Given the description of an element on the screen output the (x, y) to click on. 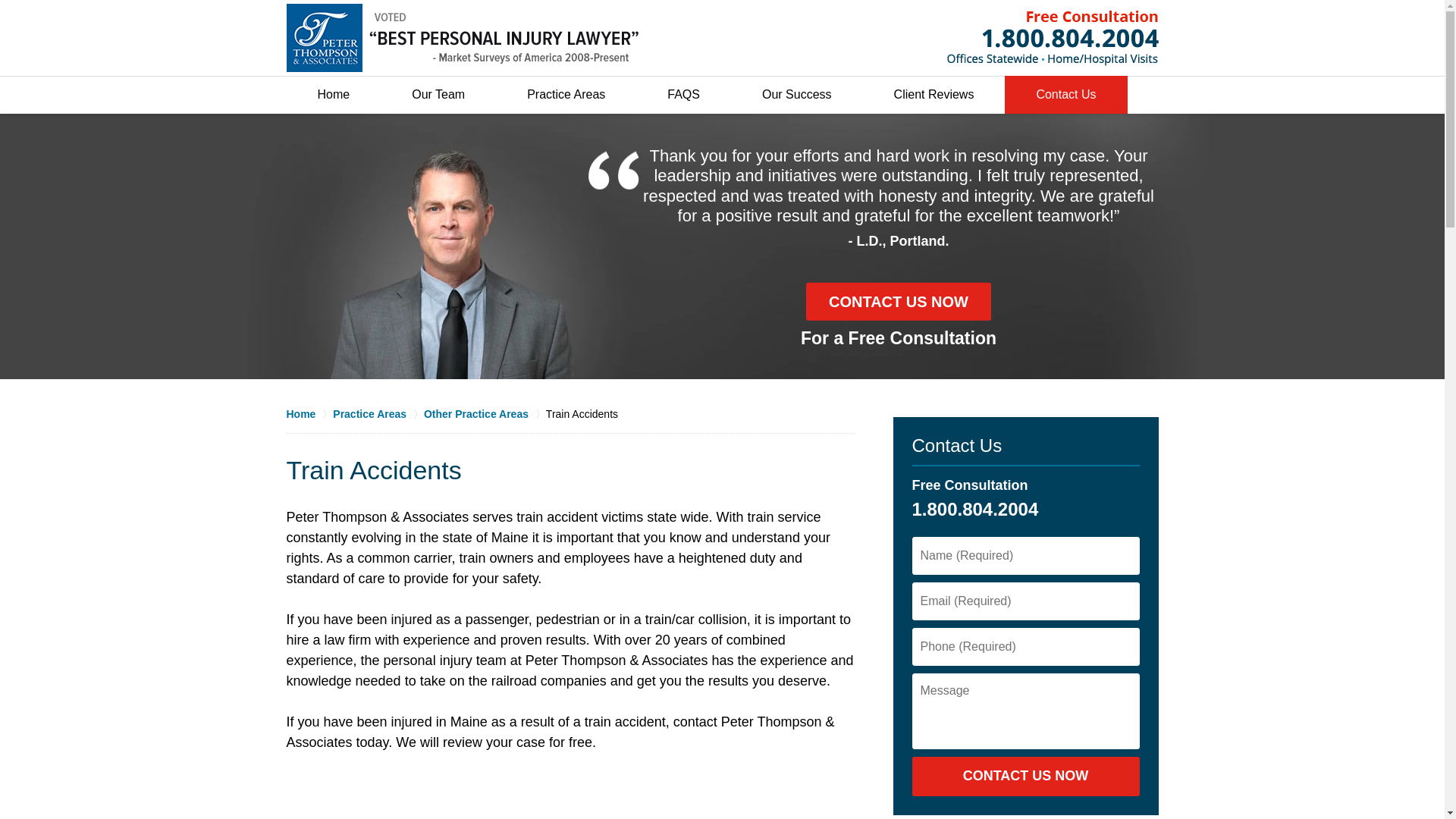
Back to Home (462, 38)
Client Reviews (934, 94)
Practice Areas (566, 94)
Home (309, 414)
FAQS (683, 94)
Other Practice Areas (484, 414)
Practice Areas (378, 414)
Home (333, 94)
Our Success (796, 94)
CONTACT US NOW (898, 301)
Contact Us (1065, 94)
Our Team (438, 94)
CONTACT US NOW (1024, 776)
